Given the description of an element on the screen output the (x, y) to click on. 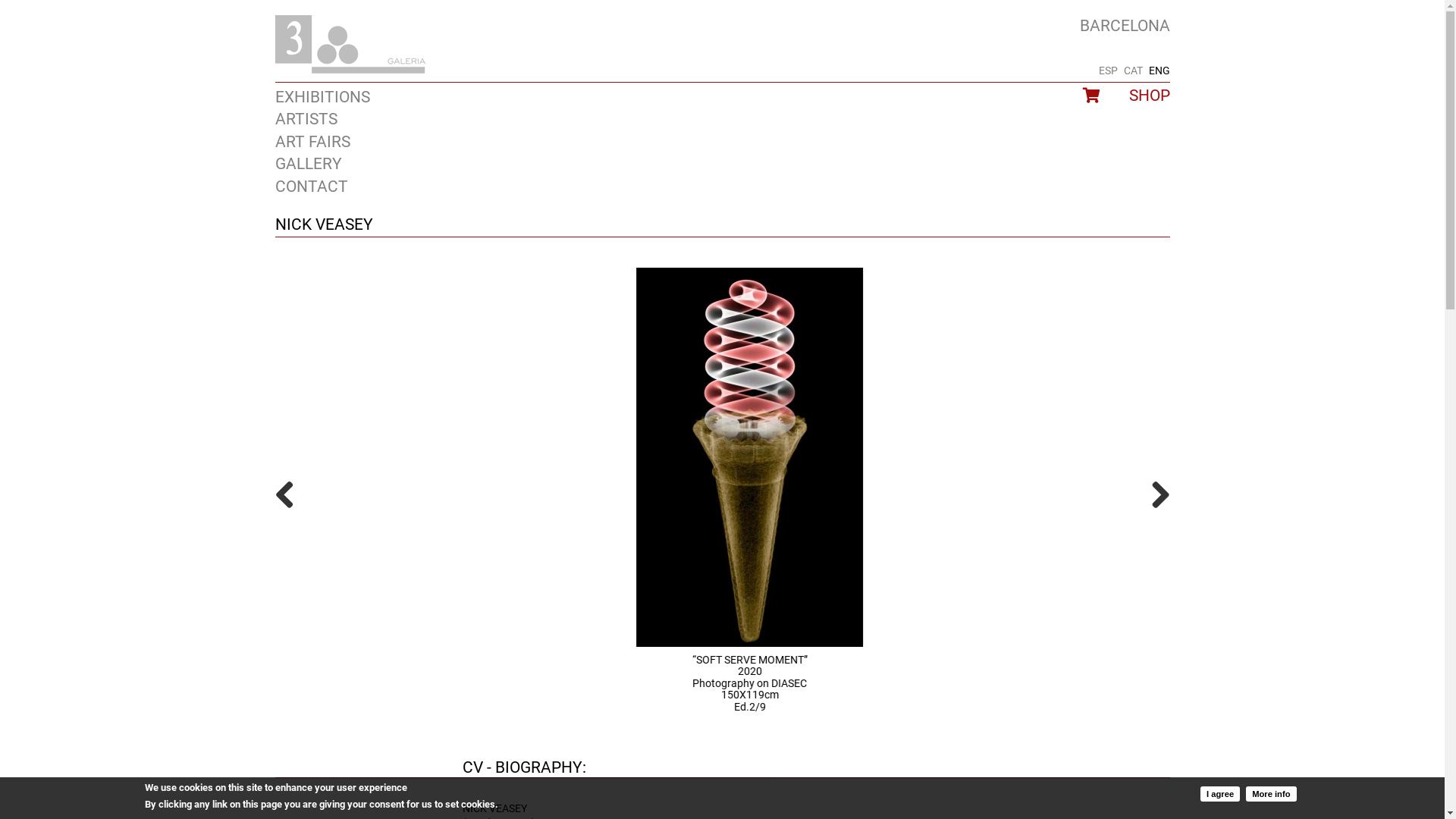
SHOP Element type: text (1148, 95)
I agree Element type: text (1219, 792)
ARTISTS Element type: text (305, 118)
ENG Element type: text (1158, 70)
GALLERY Element type: text (307, 163)
ART FAIRS Element type: text (311, 141)
Nick Veasey 3 Punts Galeria Element type: hover (722, 456)
CONTACT Element type: text (310, 186)
BARCELONA Element type: text (1124, 25)
ESP Element type: text (1107, 70)
CAT Element type: text (1132, 70)
Home Element type: hover (349, 44)
More info Element type: text (1270, 792)
Jump to navigation Element type: text (722, 17)
EXHIBITIONS Element type: text (321, 96)
